Given the description of an element on the screen output the (x, y) to click on. 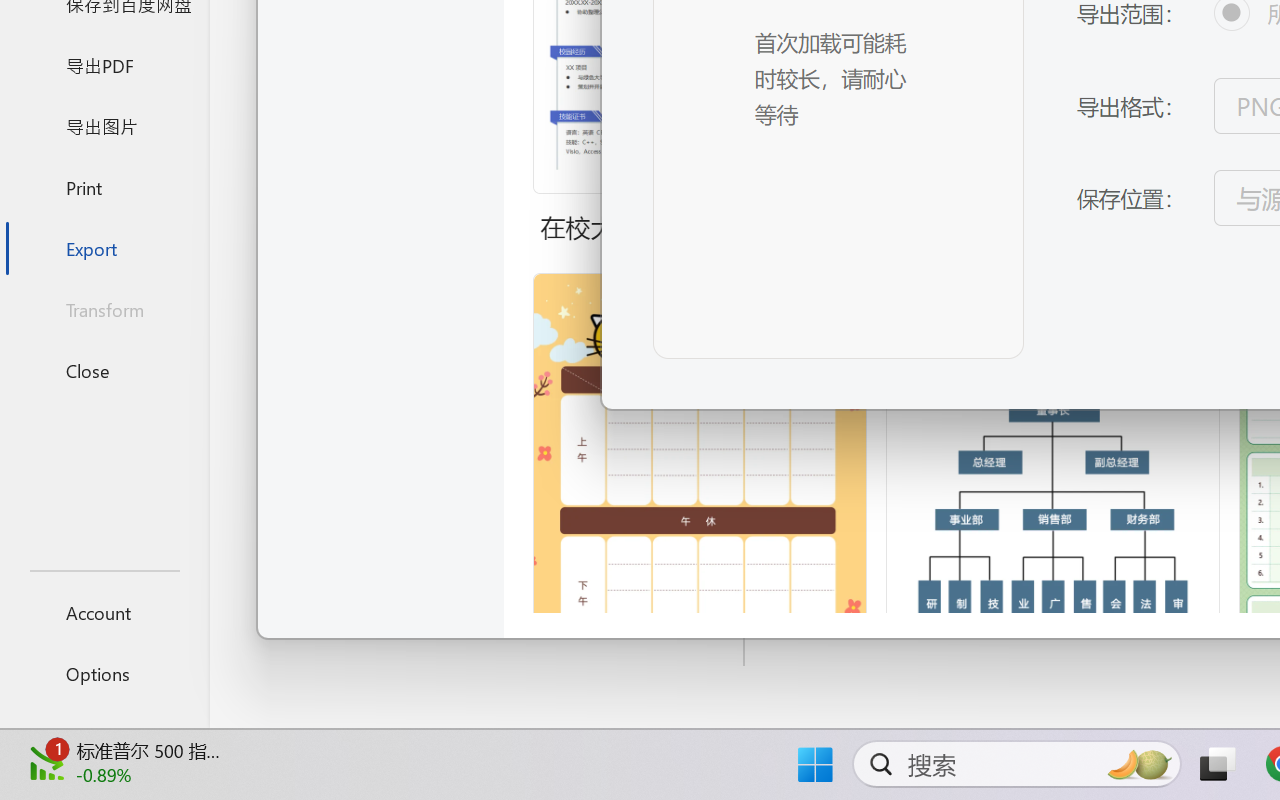
Transform (104, 309)
Export (104, 248)
Options (104, 673)
Account (104, 612)
Print (104, 186)
